Given the description of an element on the screen output the (x, y) to click on. 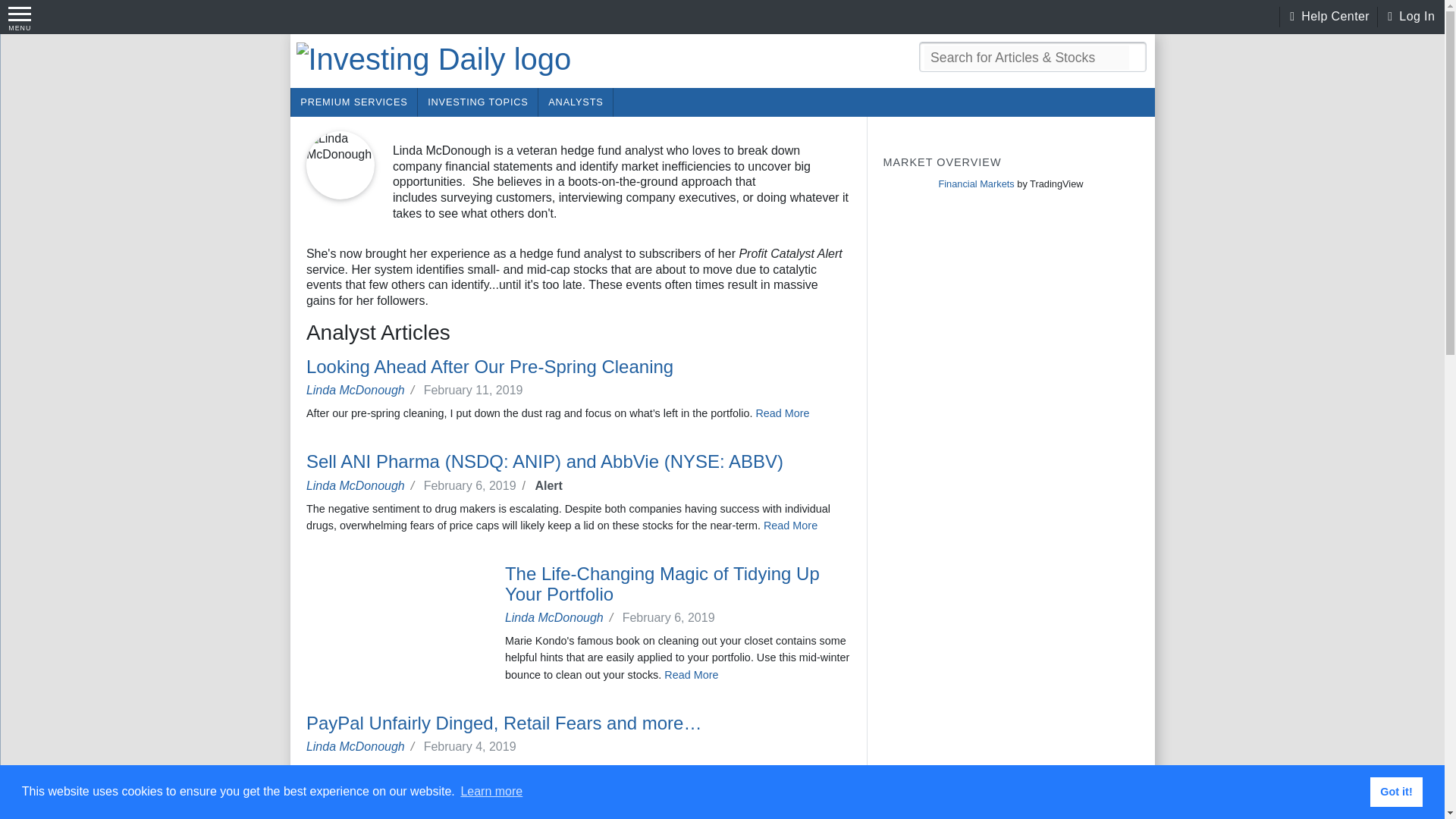
Learn more (491, 791)
2019-02-06 (671, 617)
2019-02-06 (477, 485)
Got it! (1396, 791)
Investing Daily (432, 59)
2019-02-11 (476, 390)
2019-02-04 (472, 746)
